Given the description of an element on the screen output the (x, y) to click on. 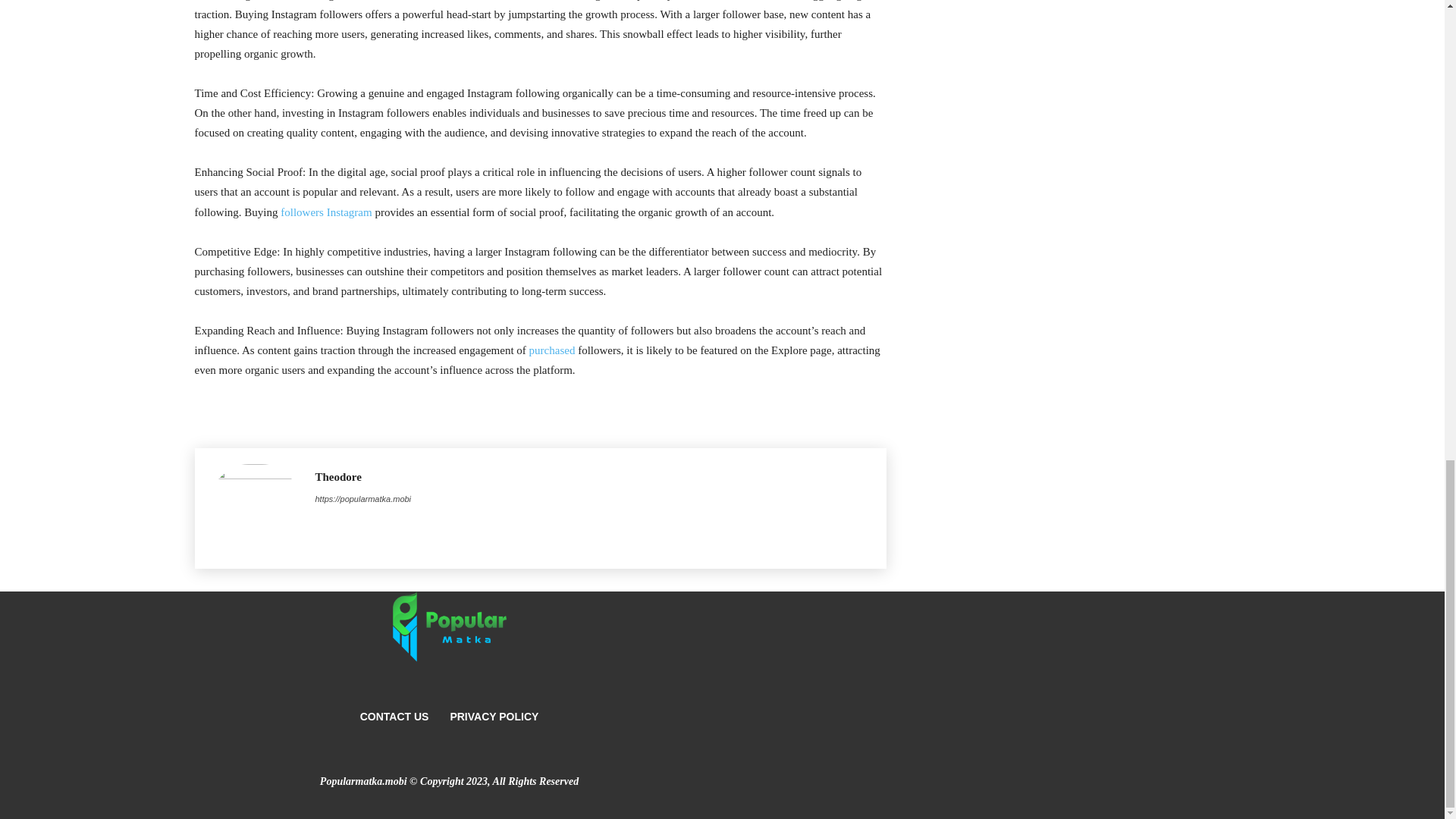
PRIVACY POLICY (493, 716)
followers Instagram (326, 212)
CONTACT US (394, 716)
Theodore (363, 477)
Theodore (255, 508)
purchased (552, 349)
